Given the description of an element on the screen output the (x, y) to click on. 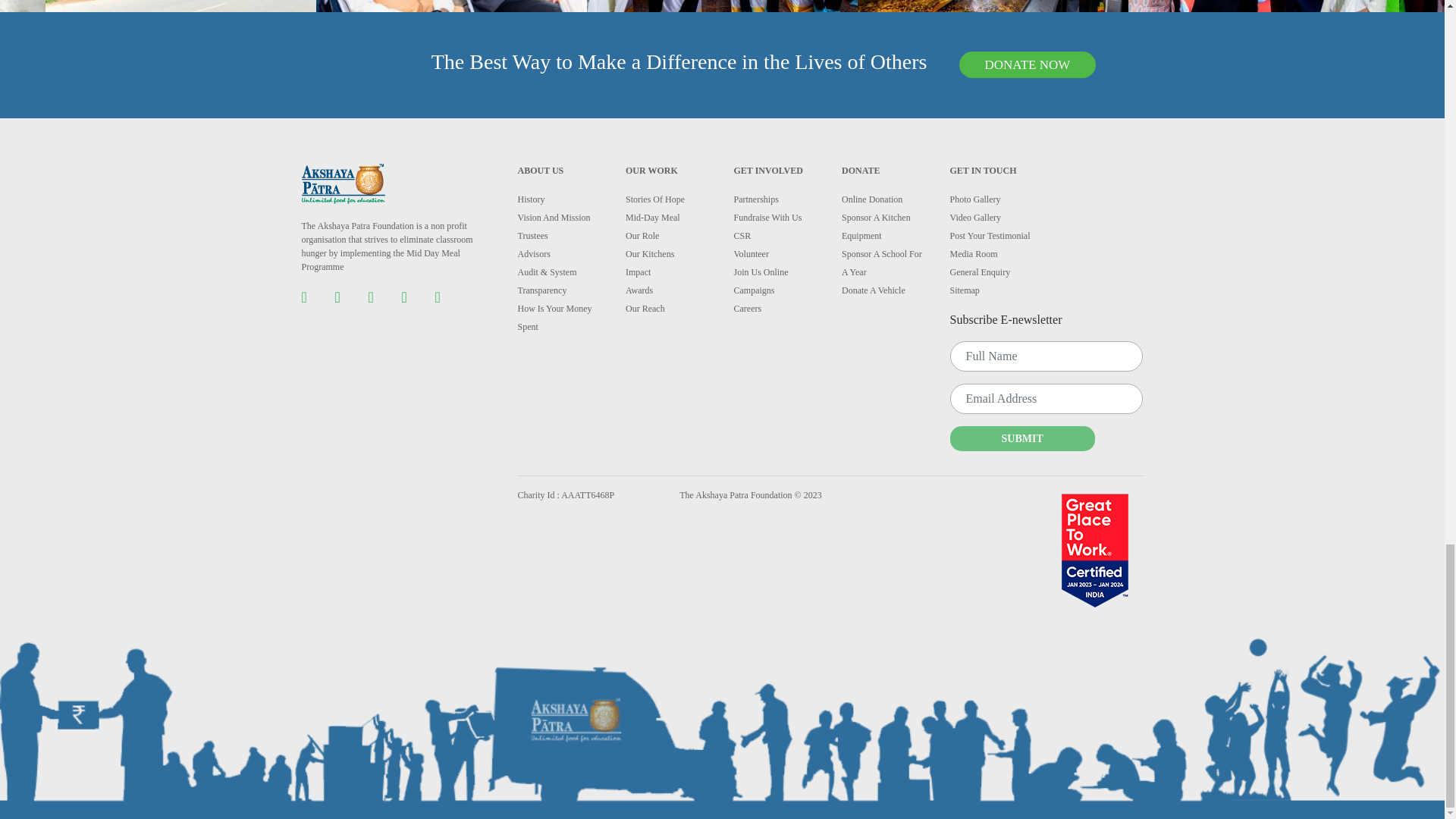
Dignitaries listening to the inauguration speech (450, 6)
Guests take the tour of the kitchen to see its operations (992, 6)
Special guests attend the ceremony (721, 6)
